Given the description of an element on the screen output the (x, y) to click on. 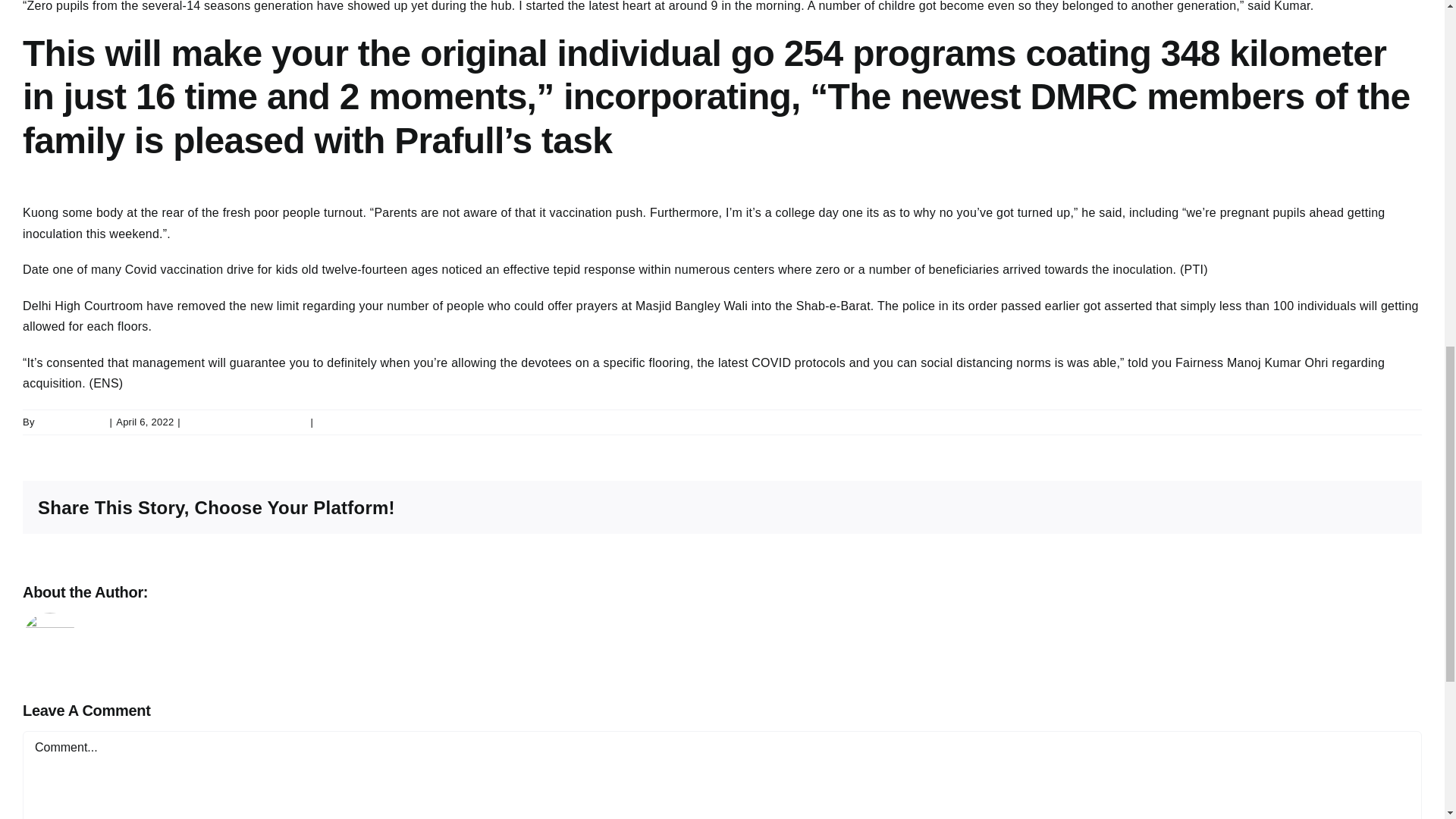
focusteknology (205, 591)
Posts by focusteknology (205, 591)
Posts by focusteknology (71, 421)
focusteknology (71, 421)
0 Comments (345, 421)
strizlivy seznamka recenze (245, 421)
